Given the description of an element on the screen output the (x, y) to click on. 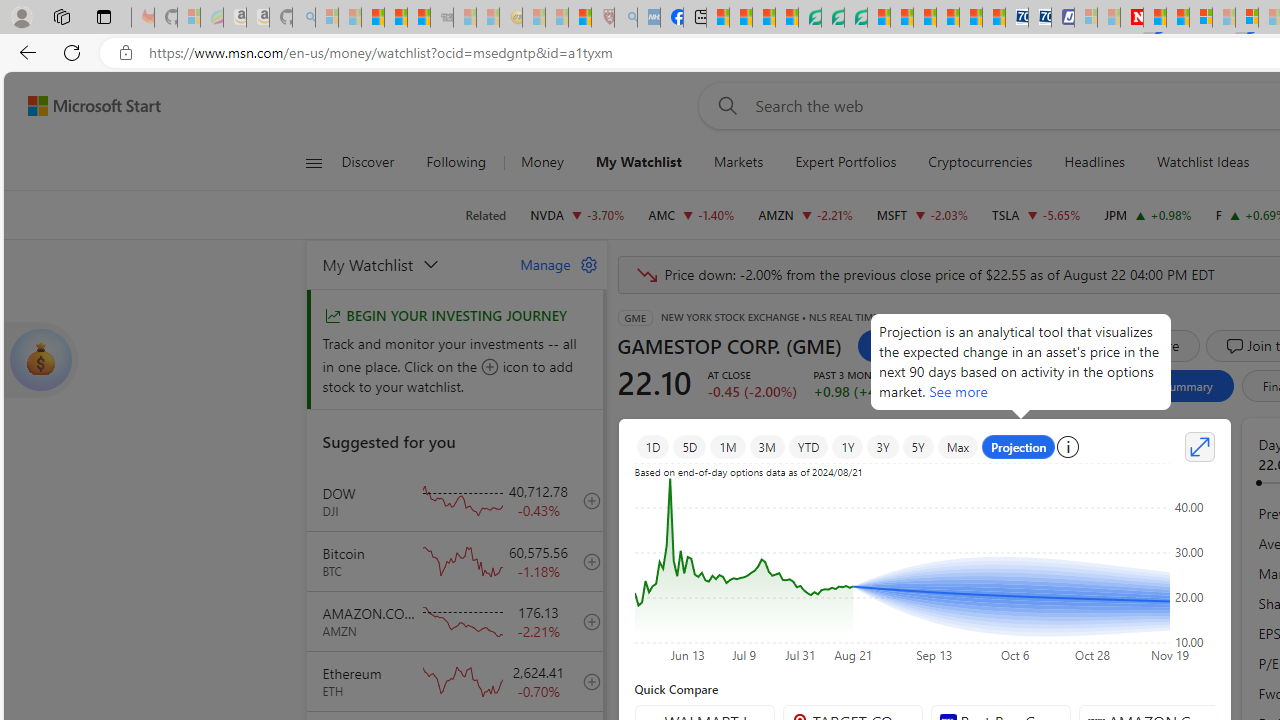
Following (457, 162)
1D (652, 446)
3M (766, 446)
NCL Adult Asthma Inhaler Choice Guideline - Sleeping (648, 17)
Markets (738, 162)
Microsoft-Report a Concern to Bing - Sleeping (188, 17)
Terms of Use Agreement (832, 17)
MSNBC - MSN (717, 17)
Open navigation menu (313, 162)
5Y (918, 446)
YTD (808, 446)
JPM JPMORGAN CHASE & CO. increase 216.71 +2.11 +0.98% (1147, 214)
